Given the description of an element on the screen output the (x, y) to click on. 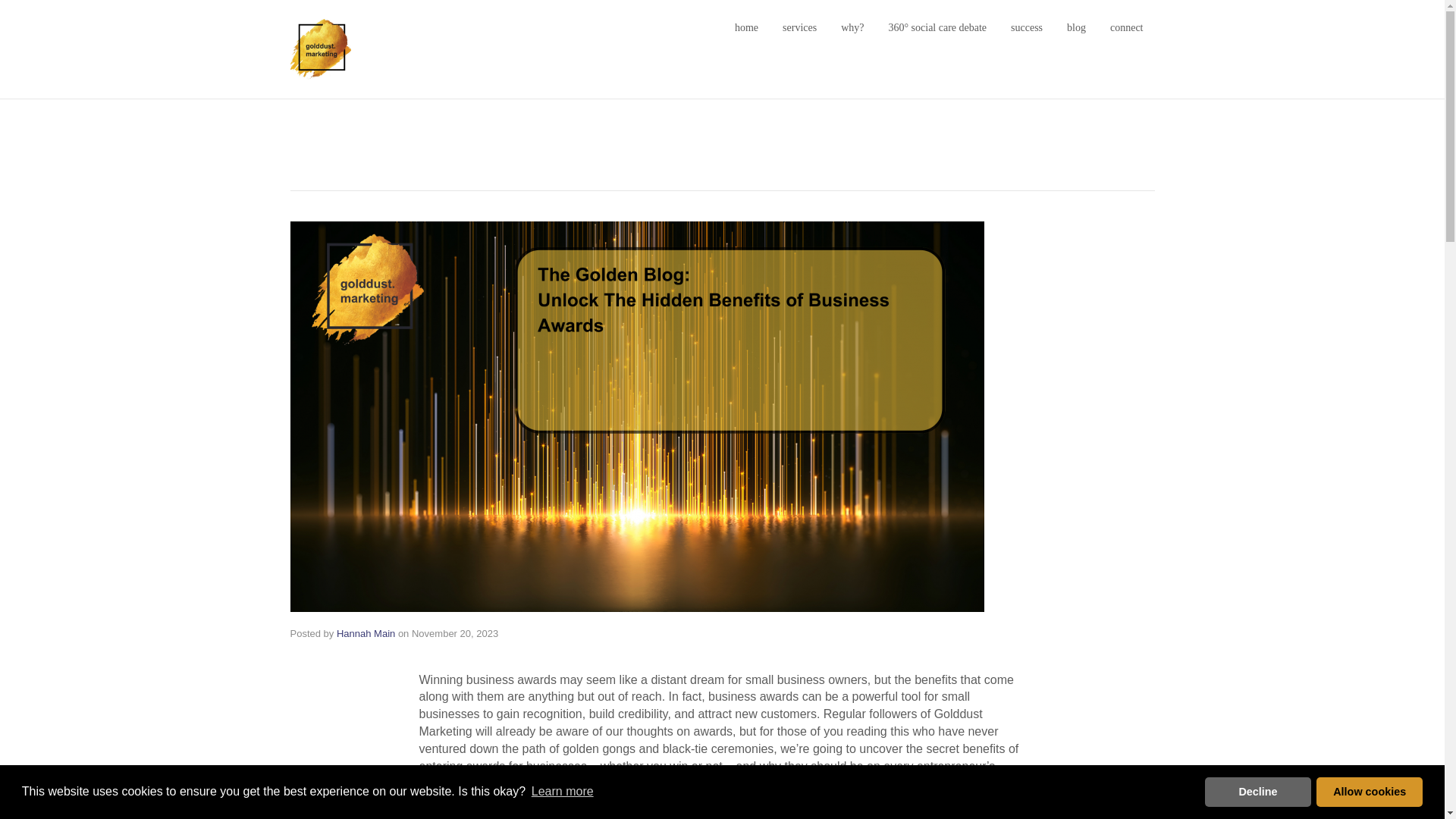
Hannah Main (365, 633)
Allow cookies (1369, 791)
Posts by Hannah Main (365, 633)
Learn more (562, 791)
Decline (1258, 791)
services (799, 27)
